Given the description of an element on the screen output the (x, y) to click on. 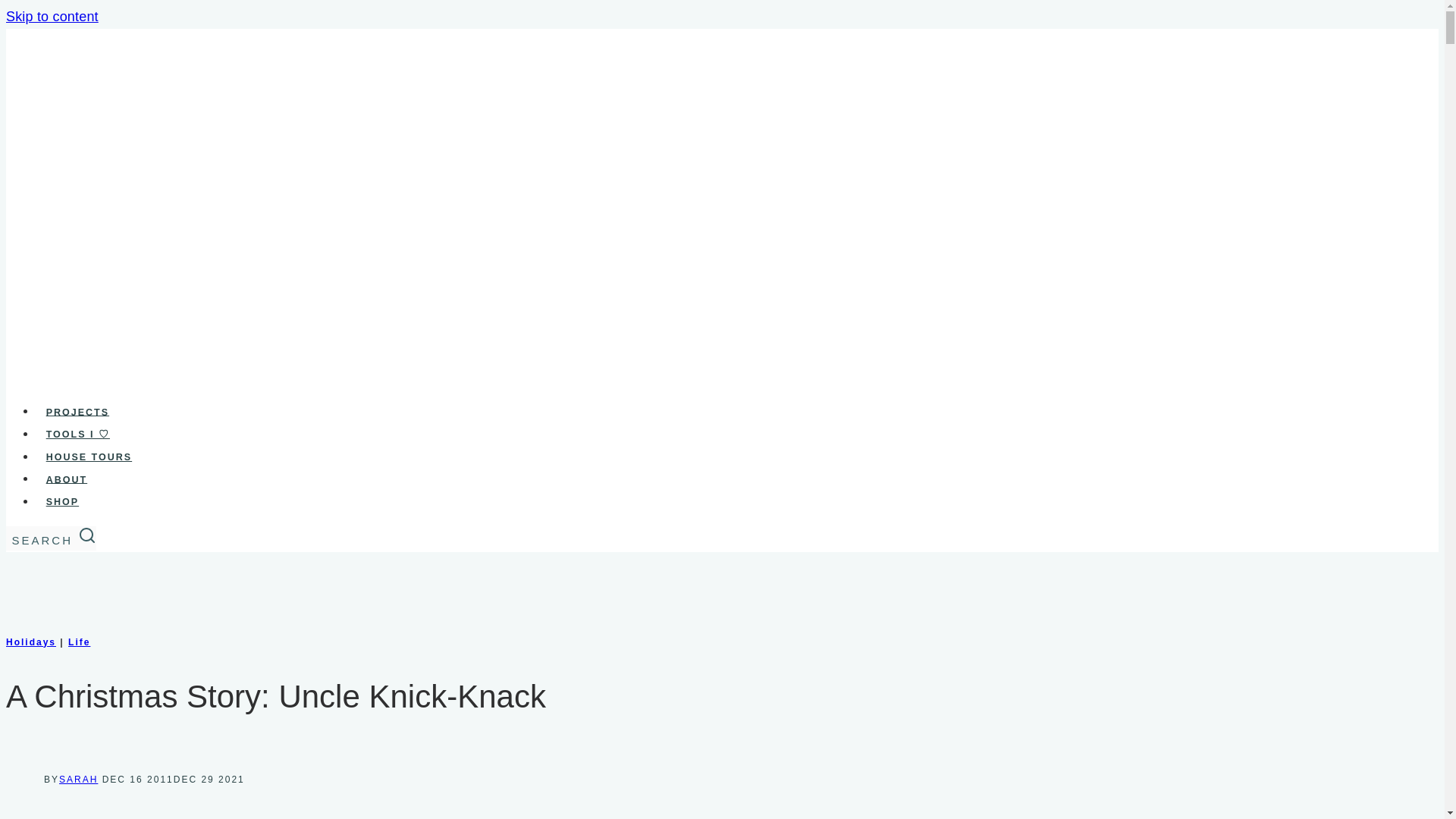
SEARCH (87, 535)
PROJECTS (77, 412)
SHOP (62, 501)
Holidays (30, 642)
SARAH (78, 778)
Life (79, 642)
HOUSE TOURS (88, 457)
Skip to content (52, 16)
Skip to content (52, 16)
ABOUT (66, 480)
